Given the description of an element on the screen output the (x, y) to click on. 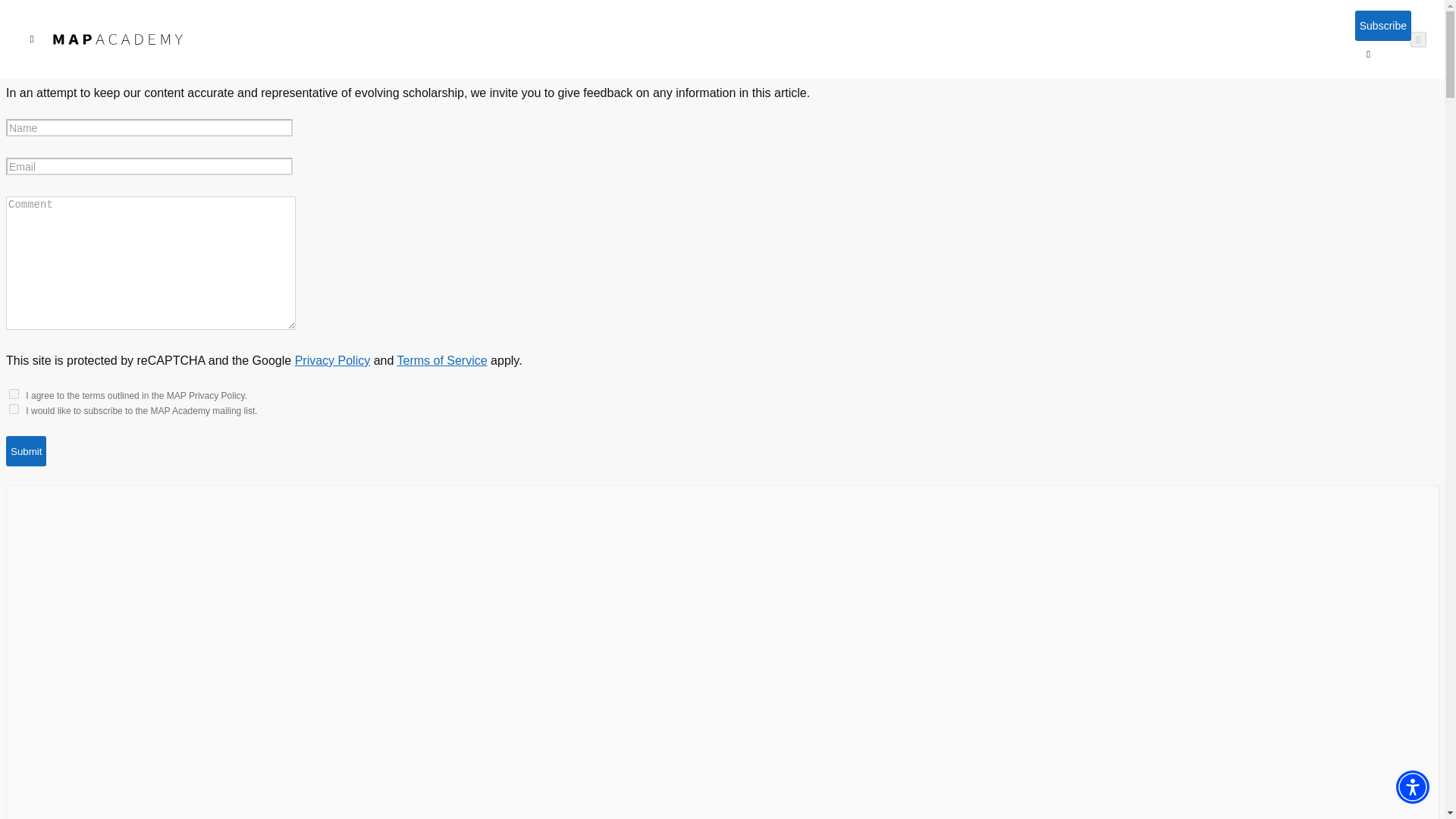
1 (13, 409)
1 (13, 393)
Accessibility Menu (1412, 786)
Subscribe (1382, 25)
Submit (25, 450)
